Given the description of an element on the screen output the (x, y) to click on. 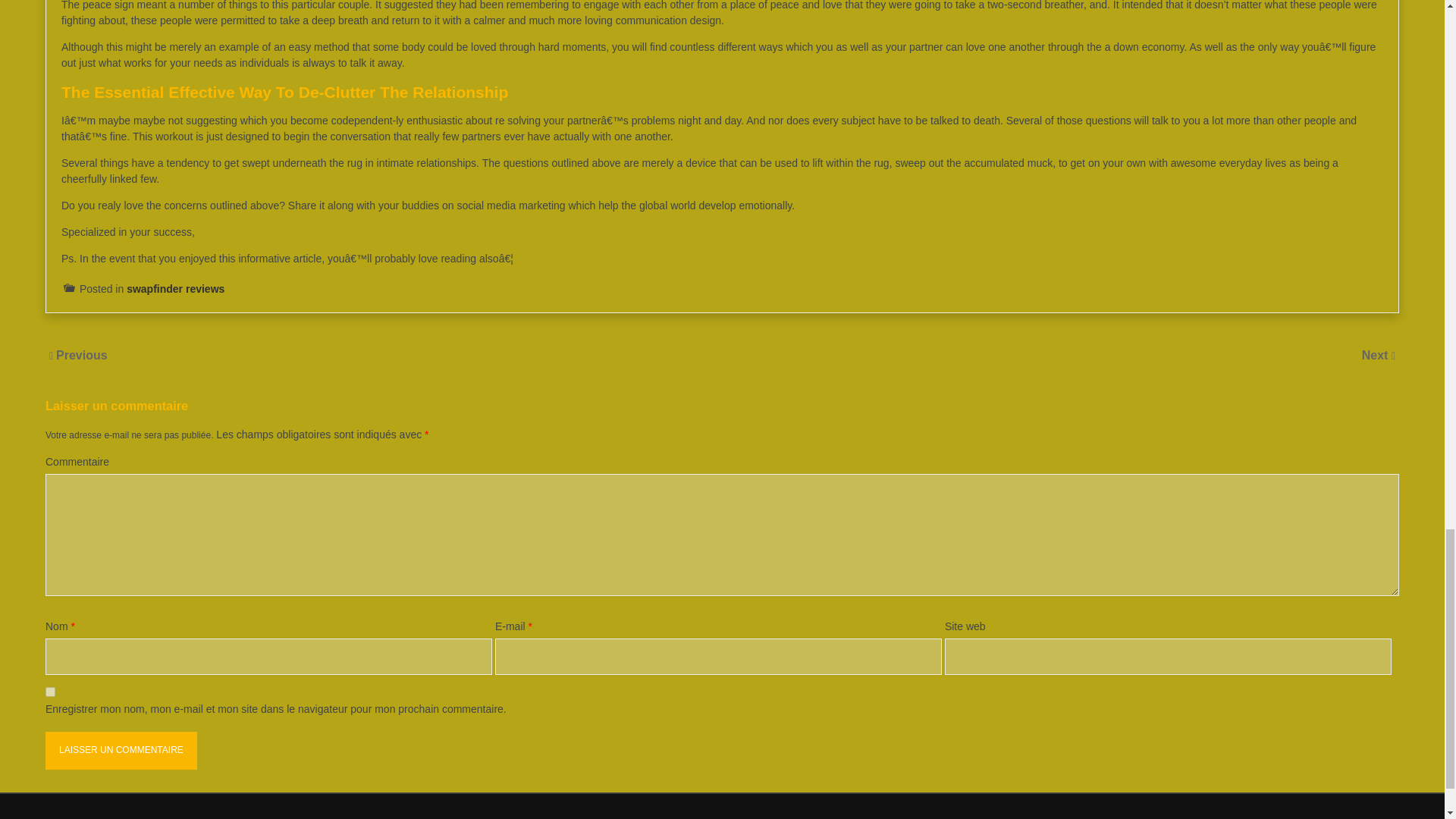
Next (1376, 354)
Laisser un commentaire (120, 750)
yes (50, 691)
swapfinder reviews (175, 288)
Laisser un commentaire (120, 750)
Previous (81, 354)
